Given the description of an element on the screen output the (x, y) to click on. 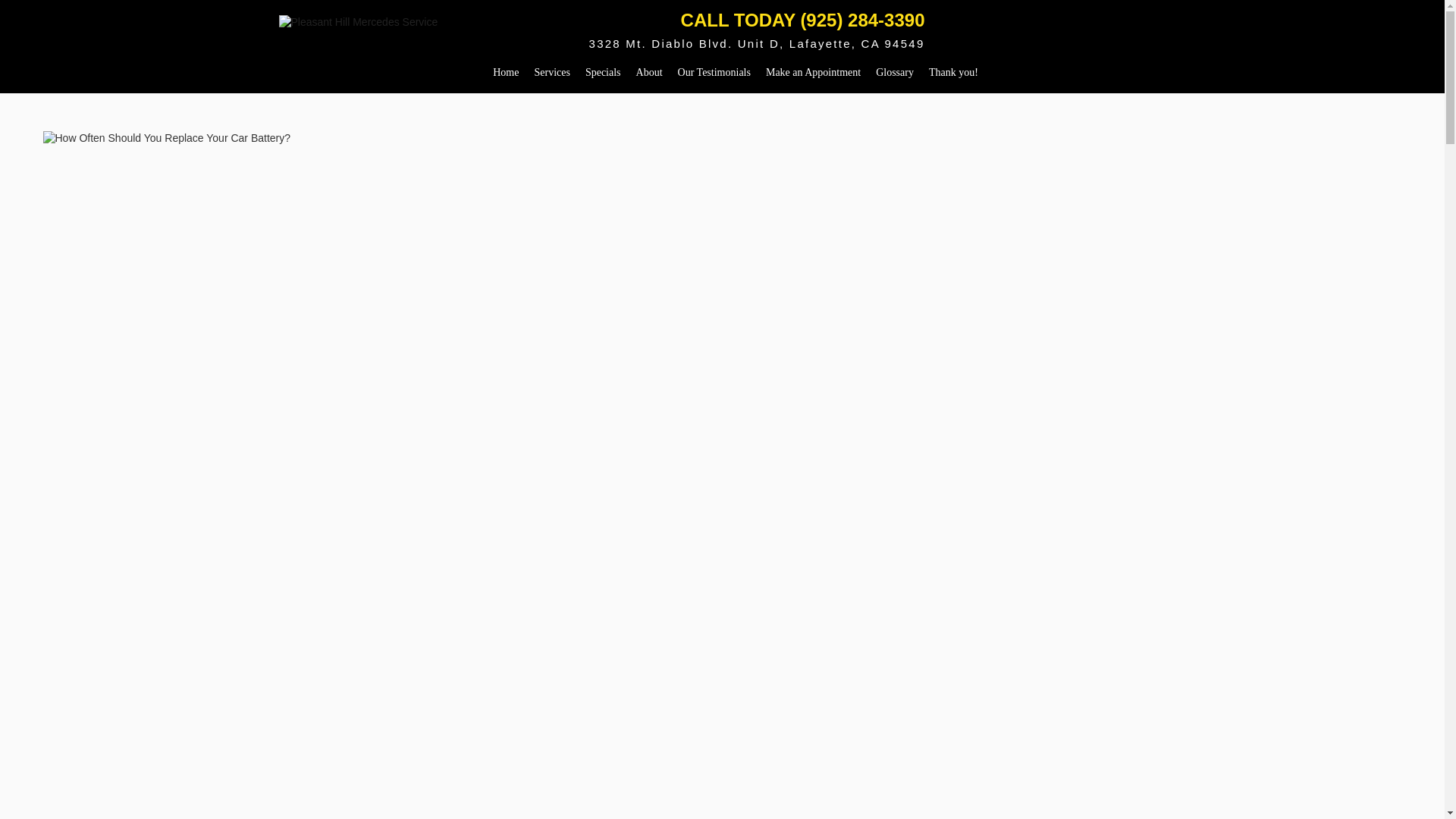
Home (504, 71)
Make an Appointment (812, 71)
About (648, 71)
Our Testimonials (713, 71)
Specials (603, 71)
Glossary (894, 71)
Services (550, 71)
Thank you! (953, 71)
